Given the description of an element on the screen output the (x, y) to click on. 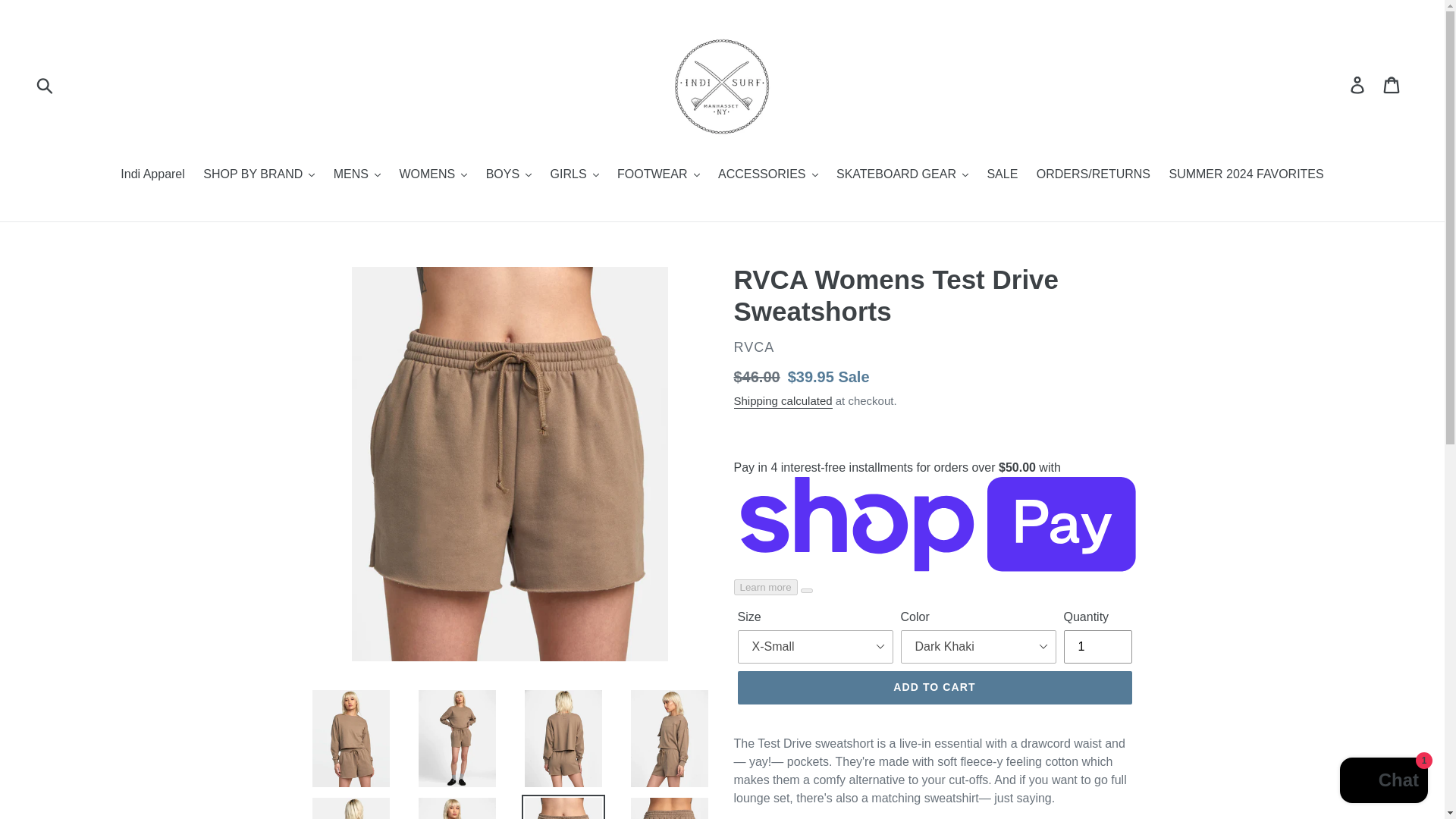
Submit (45, 84)
1 (1096, 646)
Cart (1392, 83)
Log in (1357, 83)
Shopify online store chat (1383, 781)
